Given the description of an element on the screen output the (x, y) to click on. 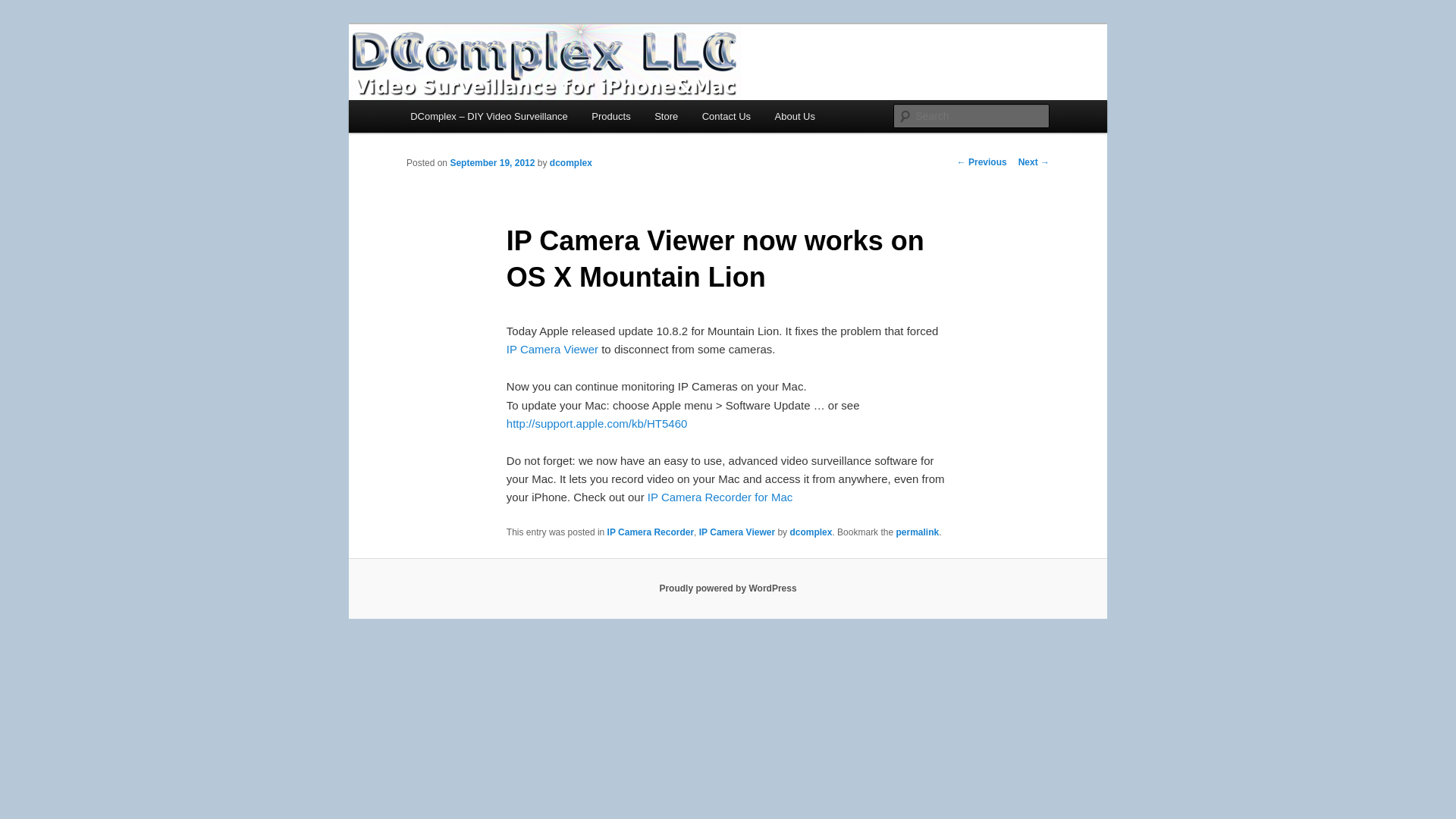
IP Camera Viewer (552, 349)
permalink (917, 532)
View all posts by dcomplex (571, 163)
Search (24, 8)
dcomplex (571, 163)
Products (611, 115)
IP Camera Recorder (719, 496)
Semantic Personal Publishing Platform (727, 588)
Proudly powered by WordPress (727, 588)
Store (666, 115)
About Us (794, 115)
IP Camera Recorder for Mac (719, 496)
11:01 pm (491, 163)
